Given the description of an element on the screen output the (x, y) to click on. 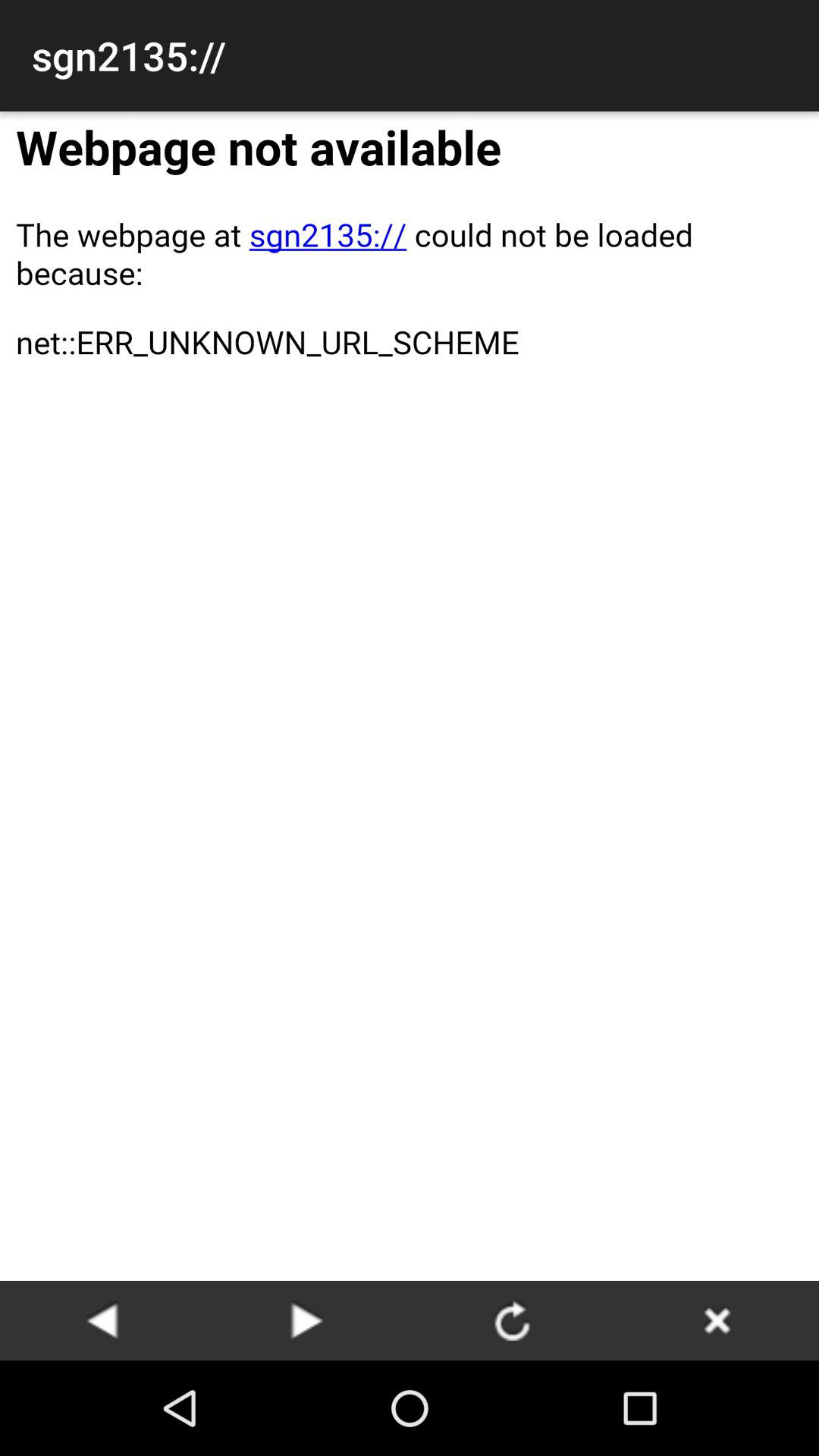
revert (306, 1320)
